Given the description of an element on the screen output the (x, y) to click on. 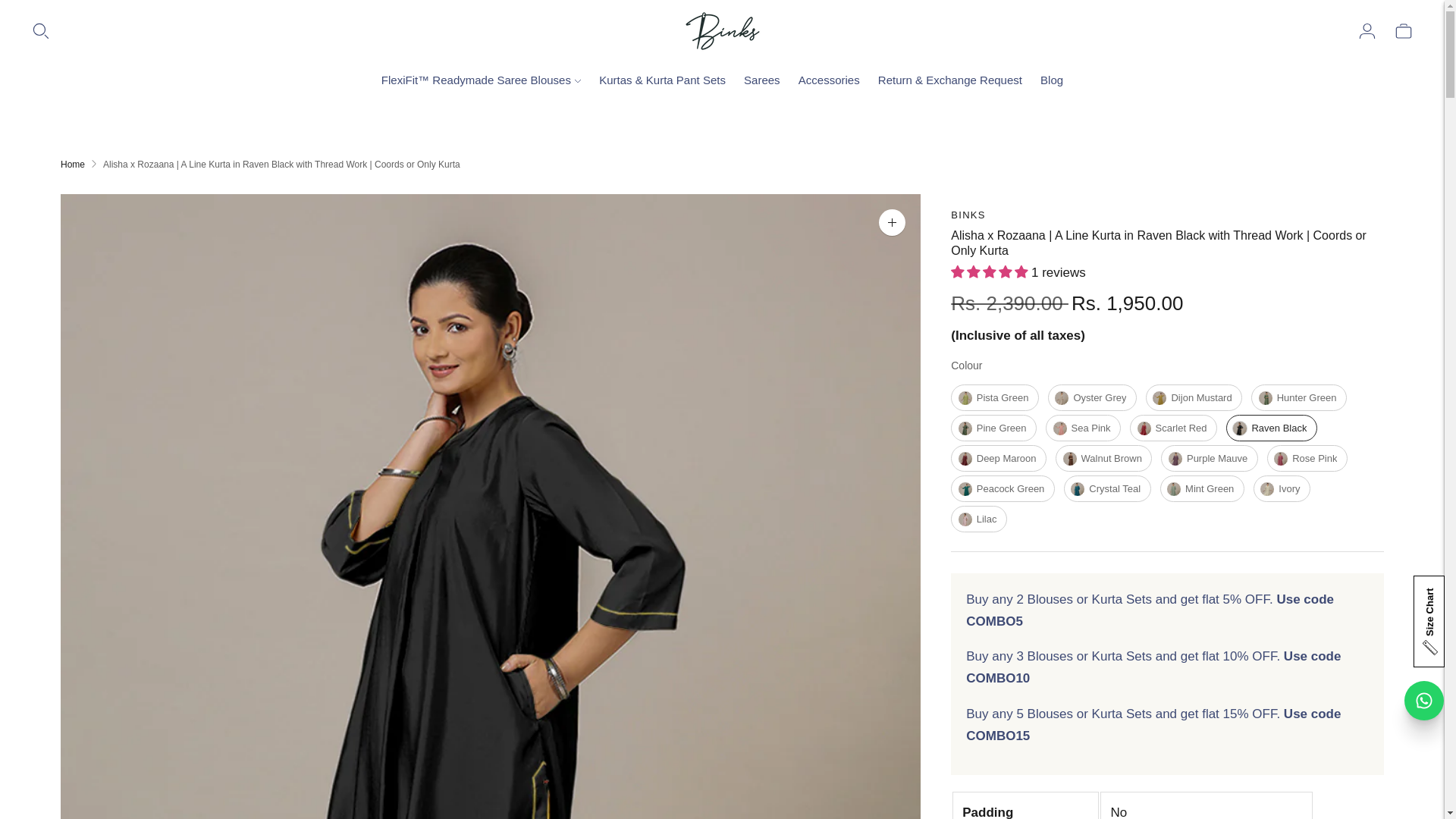
Binks (967, 214)
